Given the description of an element on the screen output the (x, y) to click on. 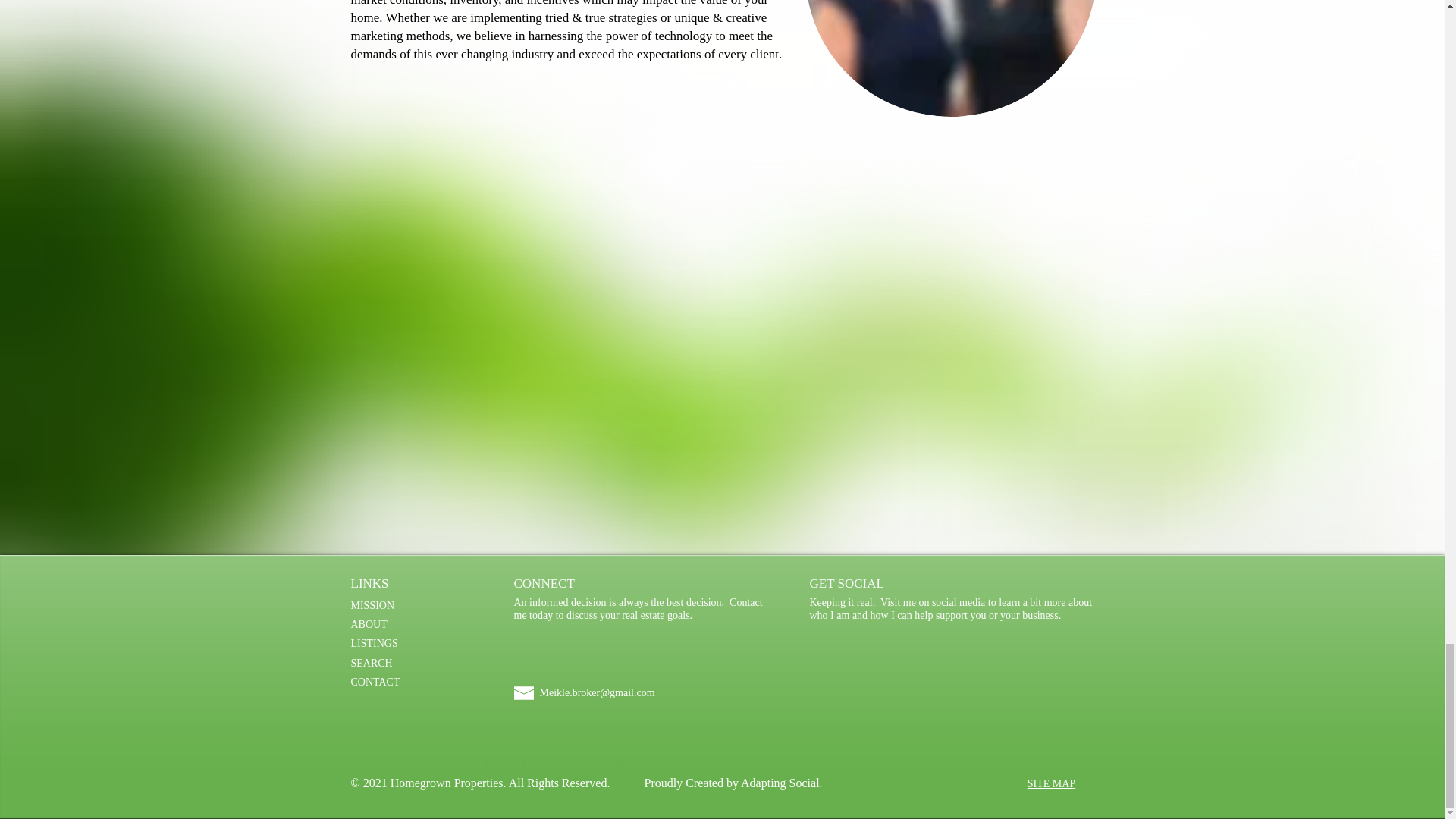
Adapting Social (780, 782)
CONTACT (374, 681)
LISTINGS (373, 643)
SEARCH (370, 663)
ABOUT (368, 624)
MISSION (372, 604)
SITE MAP (1051, 783)
